Given the description of an element on the screen output the (x, y) to click on. 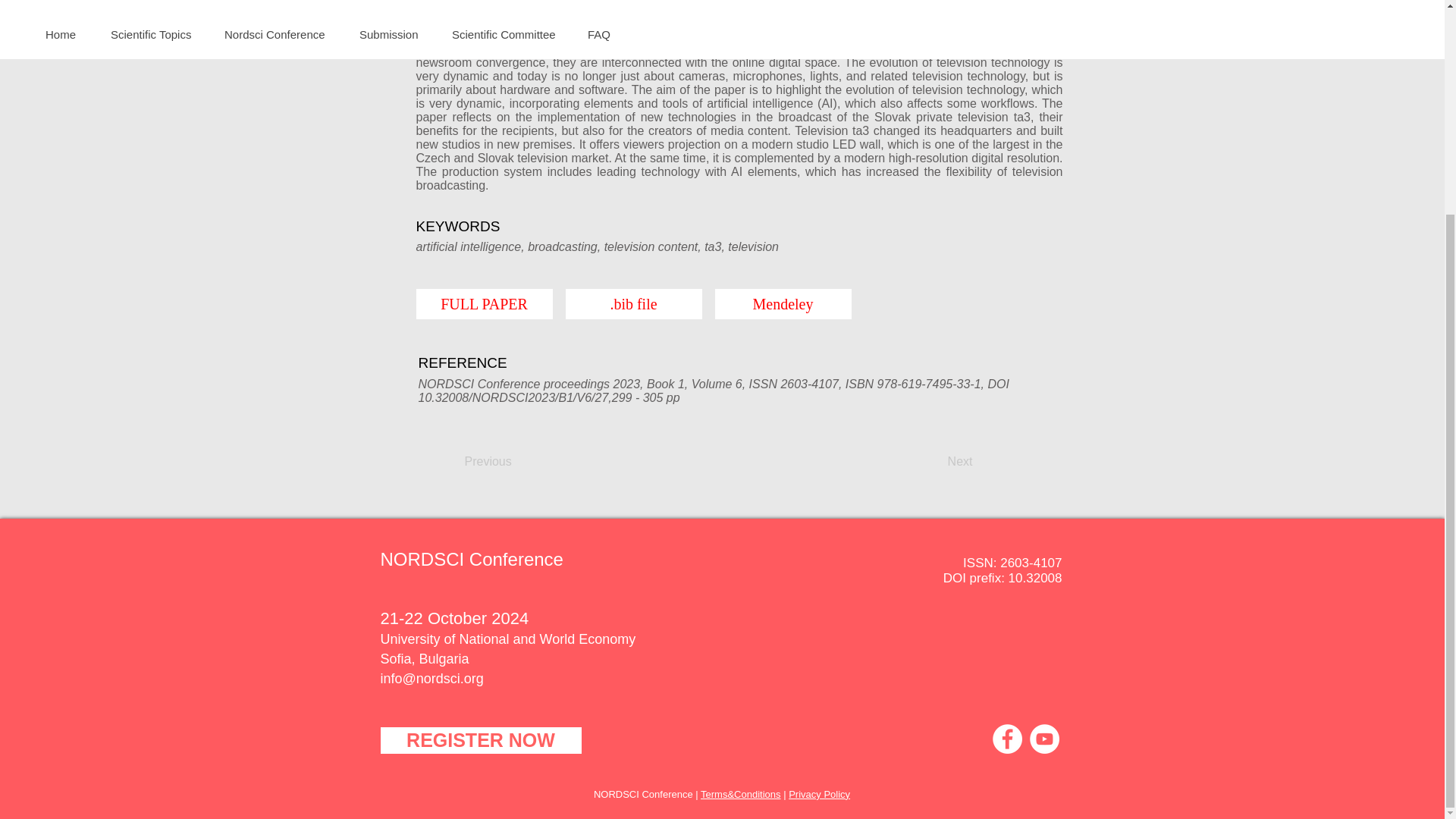
.bib file (633, 304)
FULL PAPER (482, 304)
Next (934, 461)
REGISTER NOW (480, 740)
Previous (514, 461)
Privacy Policy (819, 794)
